Given the description of an element on the screen output the (x, y) to click on. 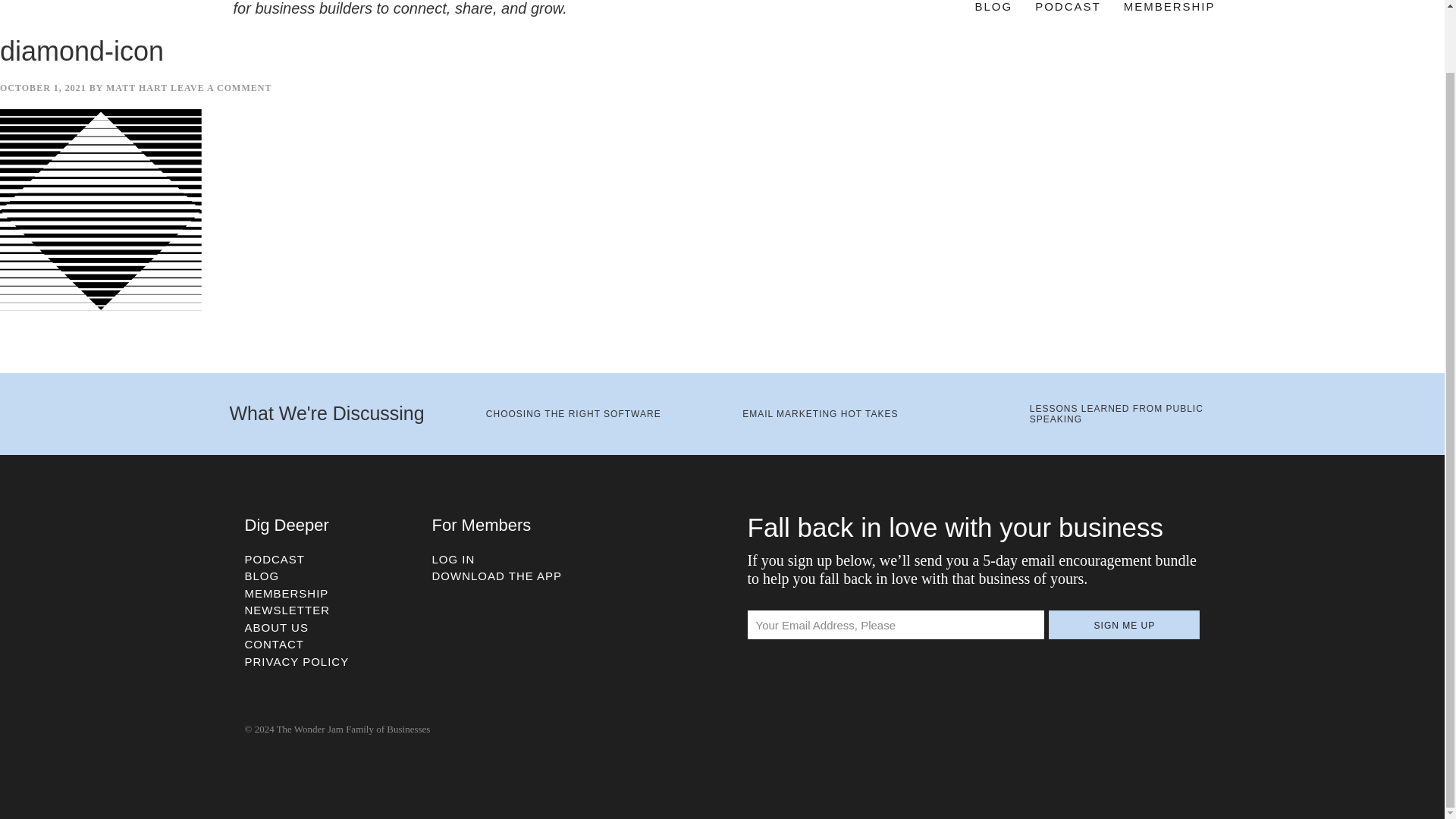
CONTACT (273, 644)
BLOG (261, 575)
MEMBERSHIP (1169, 9)
DOWNLOAD THE APP (497, 575)
SIGN ME UP (1123, 624)
ABOUT US (275, 626)
LEAVE A COMMENT (220, 87)
PODCAST (1067, 9)
LOG IN (454, 558)
MATT HART (136, 87)
PODCAST (274, 558)
BLOG (993, 9)
MEMBERSHIP (286, 593)
NEWSLETTER (287, 609)
PRIVACY POLICY (296, 661)
